Given the description of an element on the screen output the (x, y) to click on. 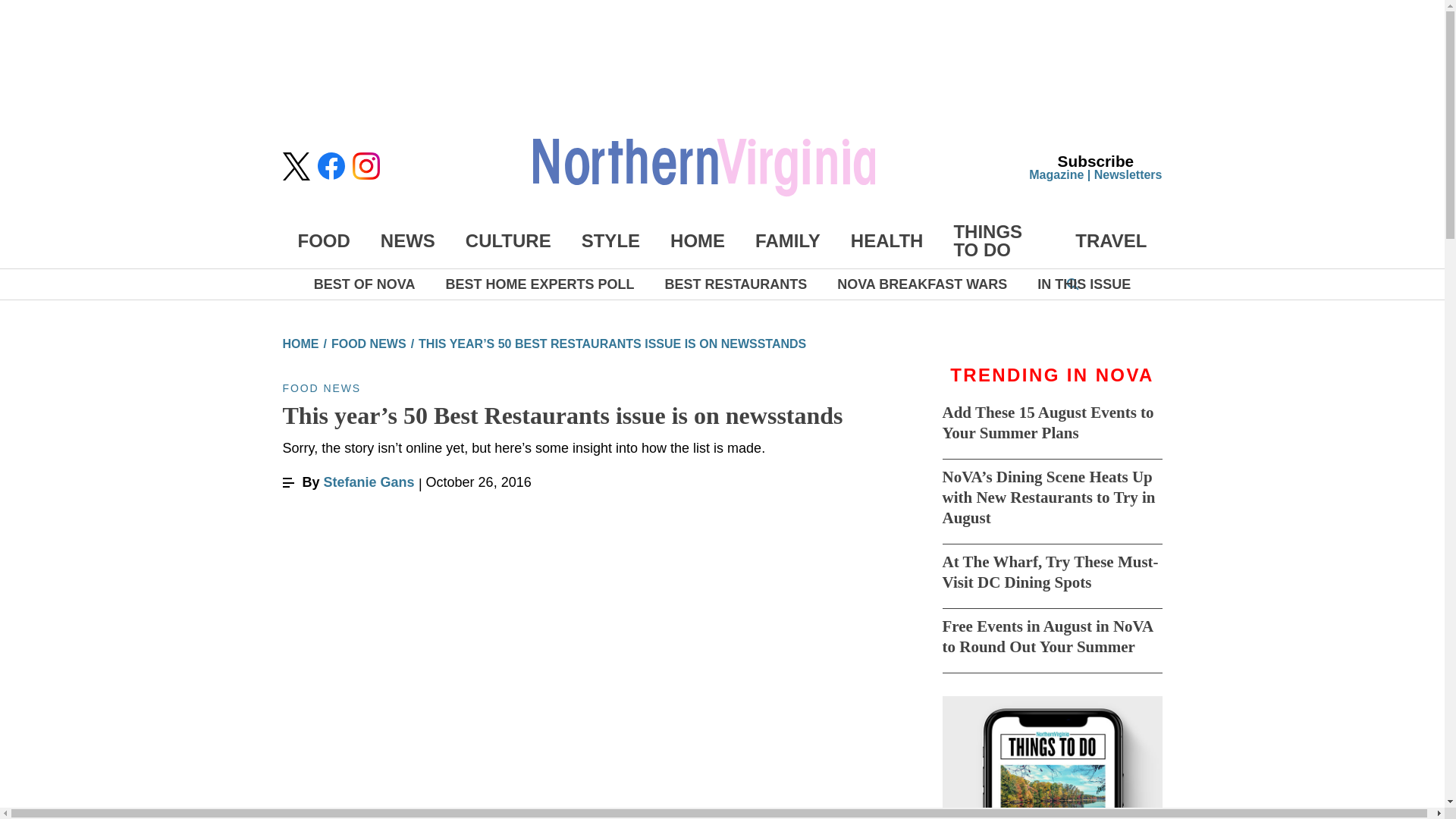
FOOD NEWS (368, 343)
TRAVEL (1111, 240)
Posts by Stefanie Gans (372, 482)
HOME (300, 343)
Add These 15 August Events to Your Summer Plans (1047, 422)
Magazine (1056, 174)
NOVA BREAKFAST WARS (922, 283)
Free Events in August in NoVA to Round Out Your Summer (1047, 636)
FAMILY (788, 240)
NEWS (407, 240)
3rd party ad content (721, 50)
FOOD NEWS (321, 387)
STYLE (610, 240)
FOOD (323, 240)
BEST OF NOVA (364, 283)
